Given the description of an element on the screen output the (x, y) to click on. 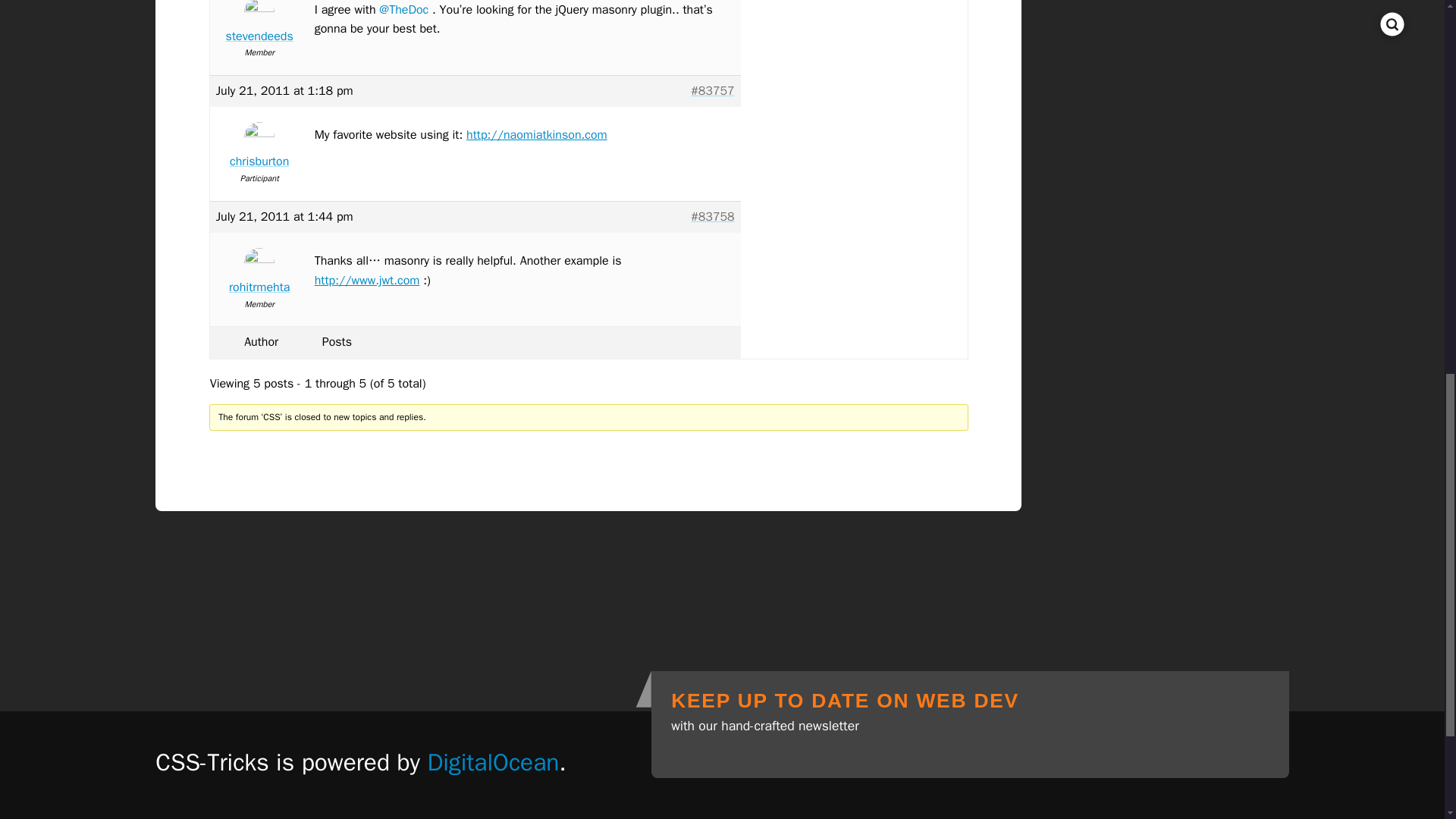
stevendeeds (258, 23)
rohitrmehta (258, 274)
View rohitrmehta's profile (258, 274)
View chrisburton's profile (258, 148)
chrisburton (258, 148)
DigitalOcean (492, 761)
View stevendeeds's profile (258, 23)
